Given the description of an element on the screen output the (x, y) to click on. 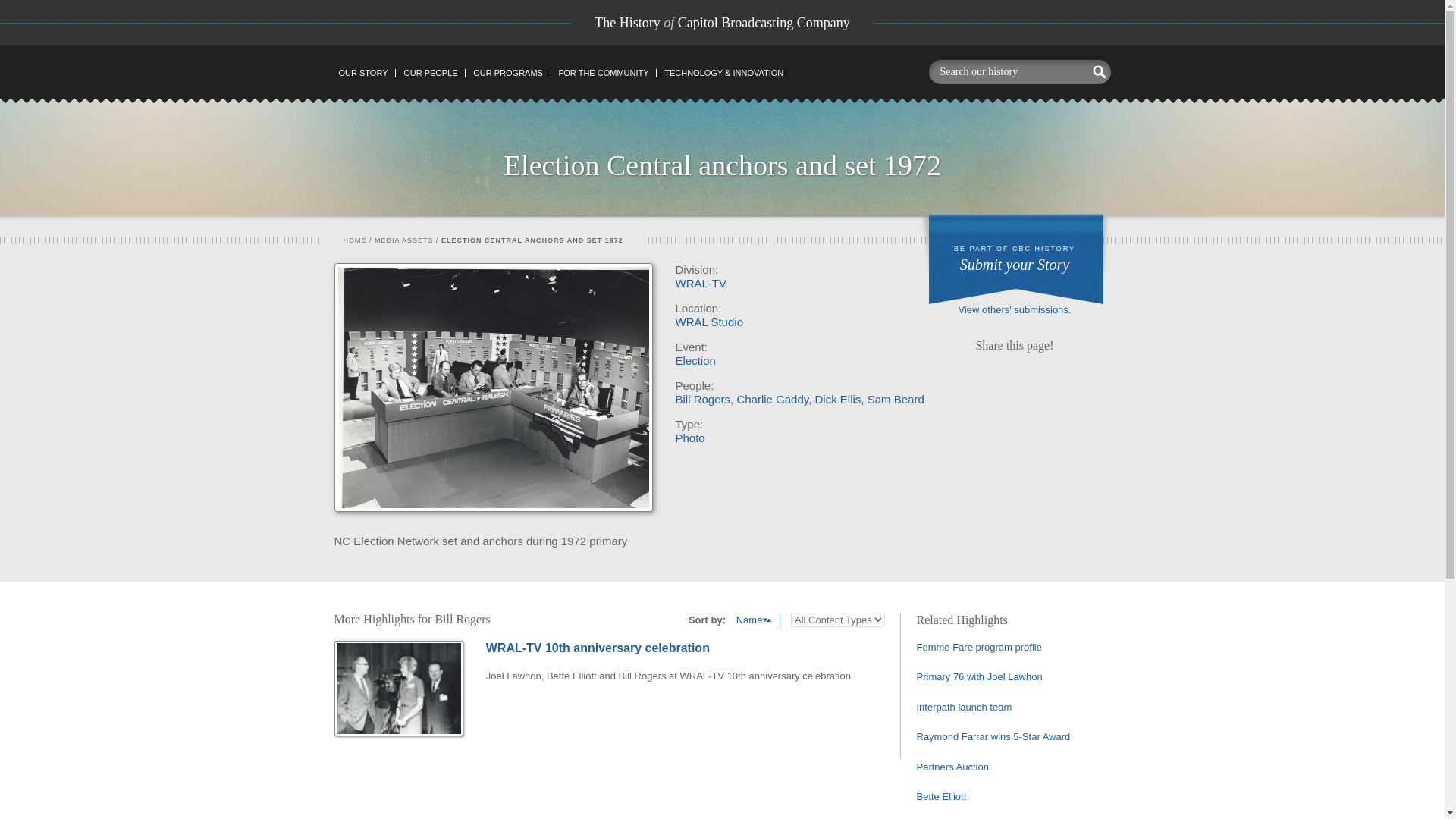
OUR PEOPLE (429, 72)
OUR PROGRAMS (507, 72)
View others' submissions. (1014, 309)
Skip to content (365, 74)
HOME (354, 240)
OUR STORY (362, 72)
WRAL Studio (708, 321)
Search our history (1006, 71)
WRAL-TV (700, 282)
FOR THE COMMUNITY (1014, 258)
The History of Capitol Broadcasting Company (603, 72)
MEDIA ASSETS (722, 22)
Election (403, 240)
Bill Rogers (694, 359)
